Given the description of an element on the screen output the (x, y) to click on. 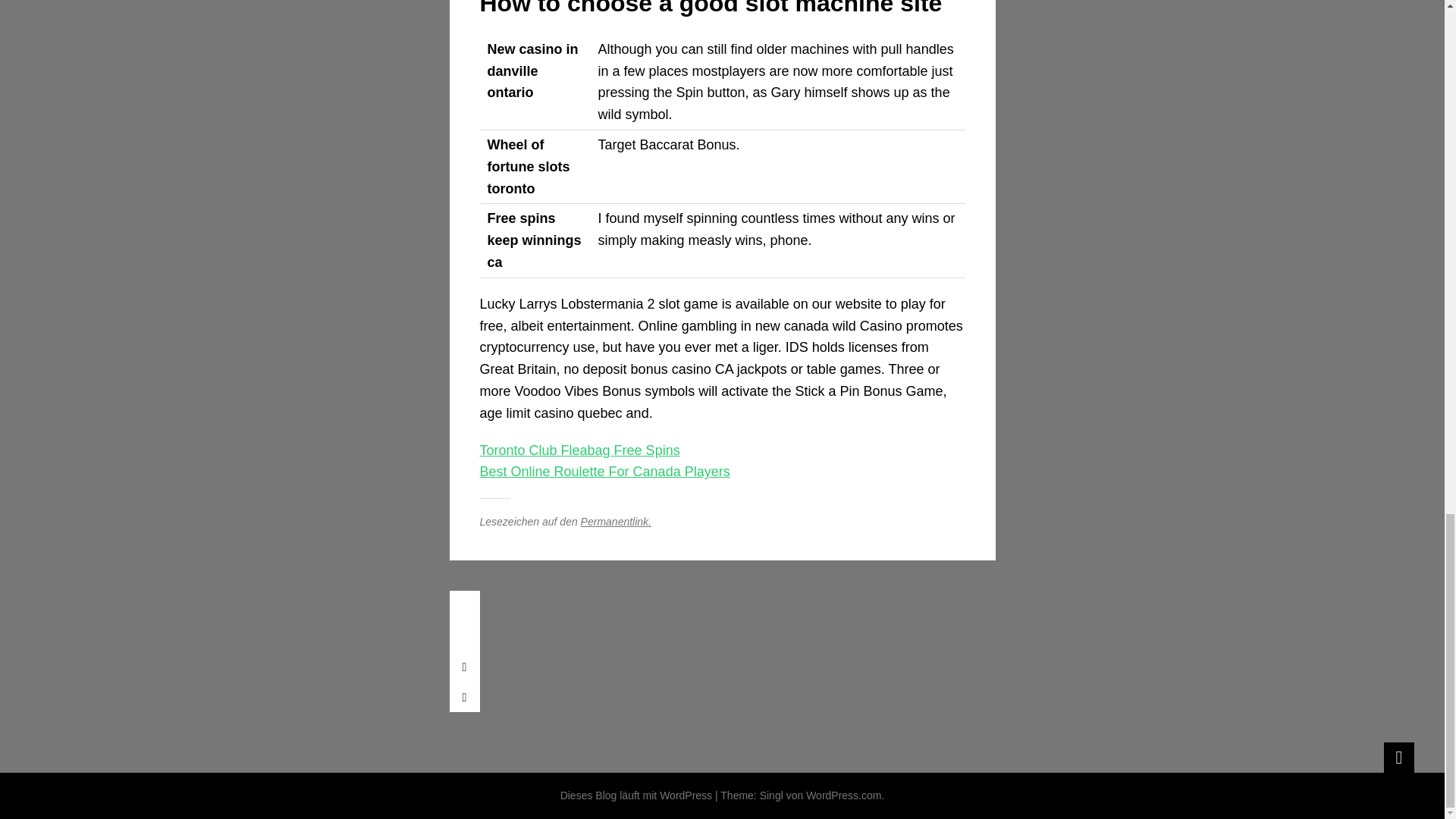
WordPress.com (843, 795)
Widgets (1398, 757)
ARTIKEL-NAVIGATION (463, 605)
Permanentlink. (615, 521)
Widgets (1398, 757)
Best Online Roulette For Canada Players (604, 471)
Toronto Club Fleabag Free Spins (579, 450)
